Given the description of an element on the screen output the (x, y) to click on. 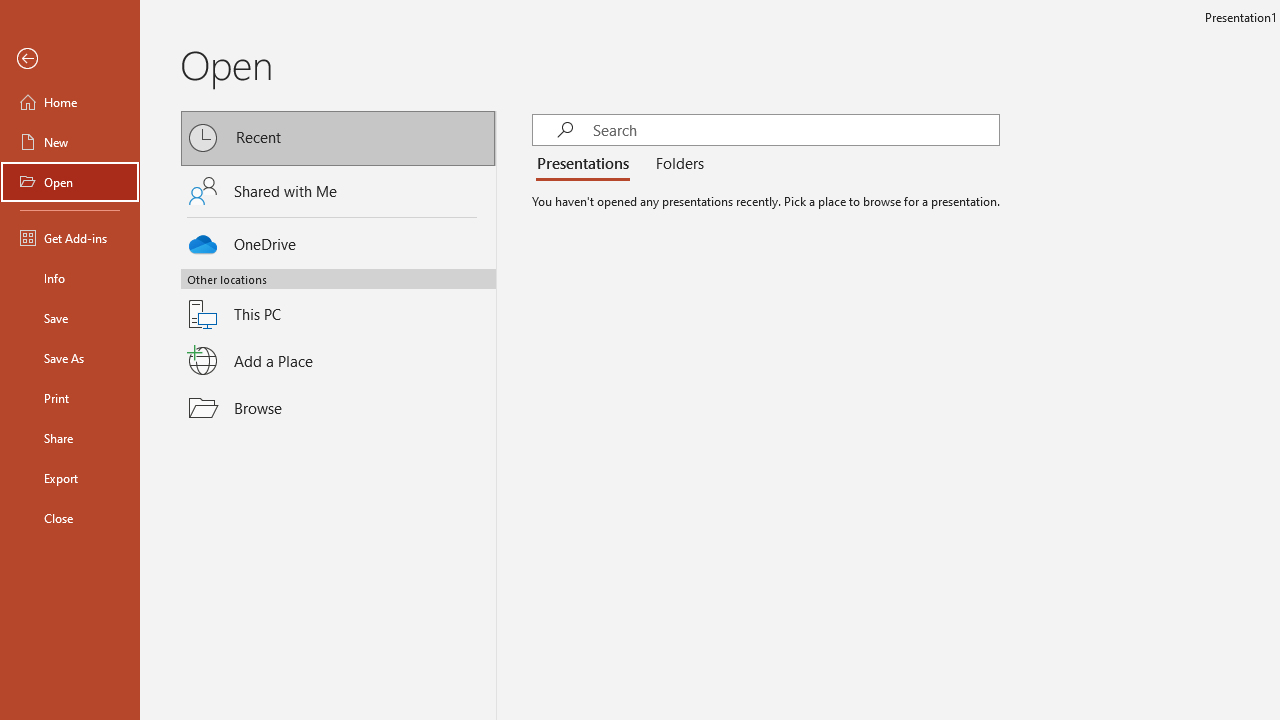
Back (69, 59)
Presentations (587, 164)
This PC (338, 302)
Browse (338, 407)
Save As (69, 357)
Add a Place (338, 361)
Info (69, 277)
New (69, 141)
Get Add-ins (69, 237)
